Given the description of an element on the screen output the (x, y) to click on. 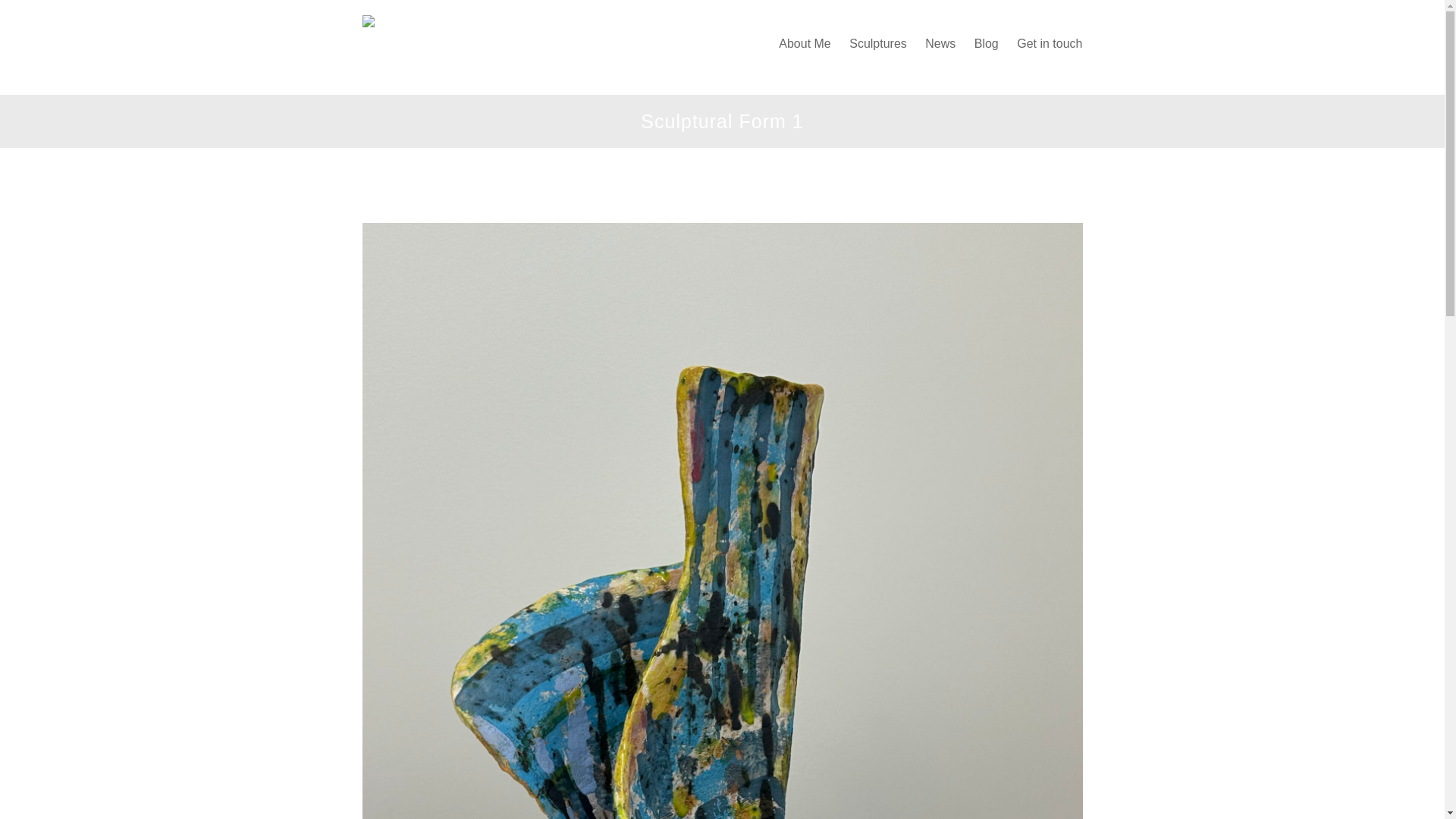
Get in touch (1045, 43)
About Me (804, 43)
Eland Art (392, 94)
Sculptures (877, 43)
